Given the description of an element on the screen output the (x, y) to click on. 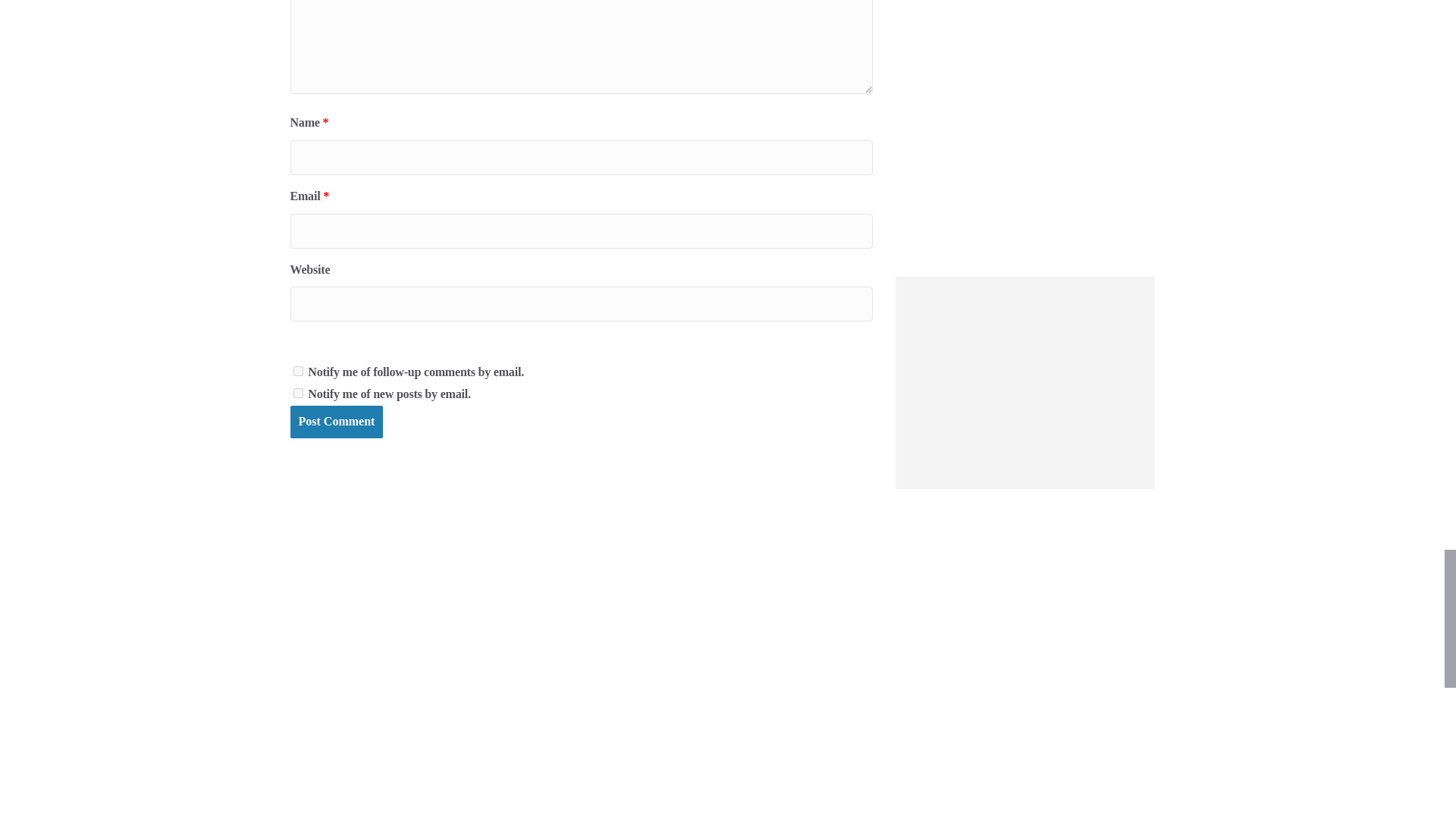
subscribe (297, 370)
subscribe (297, 393)
Post Comment (335, 421)
